Given the description of an element on the screen output the (x, y) to click on. 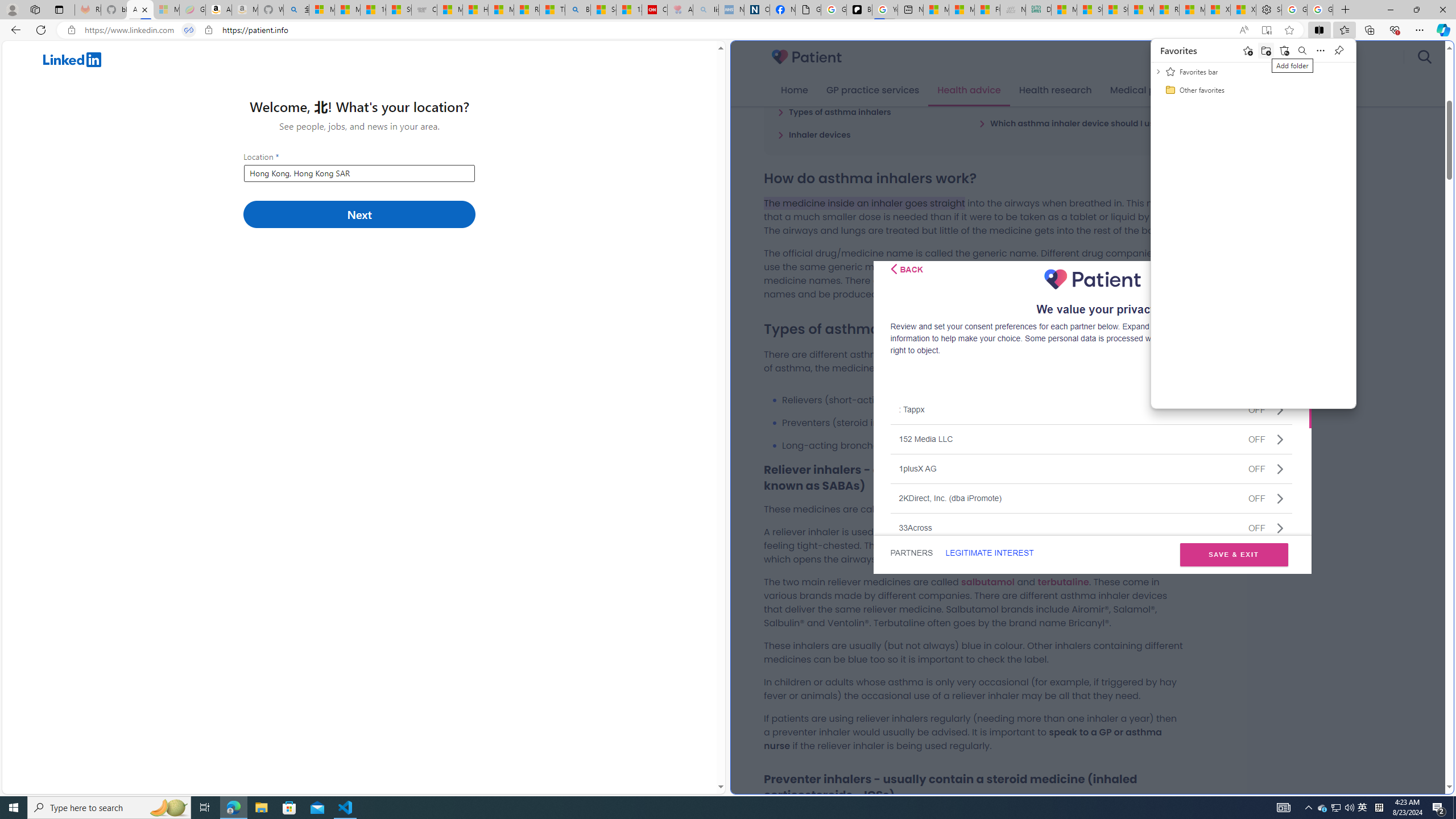
LEGITIMATE INTEREST (988, 552)
Google Analytics Opt-out Browser Add-on Download Page (807, 9)
How do asthma inhalers work? (844, 88)
